Given the description of an element on the screen output the (x, y) to click on. 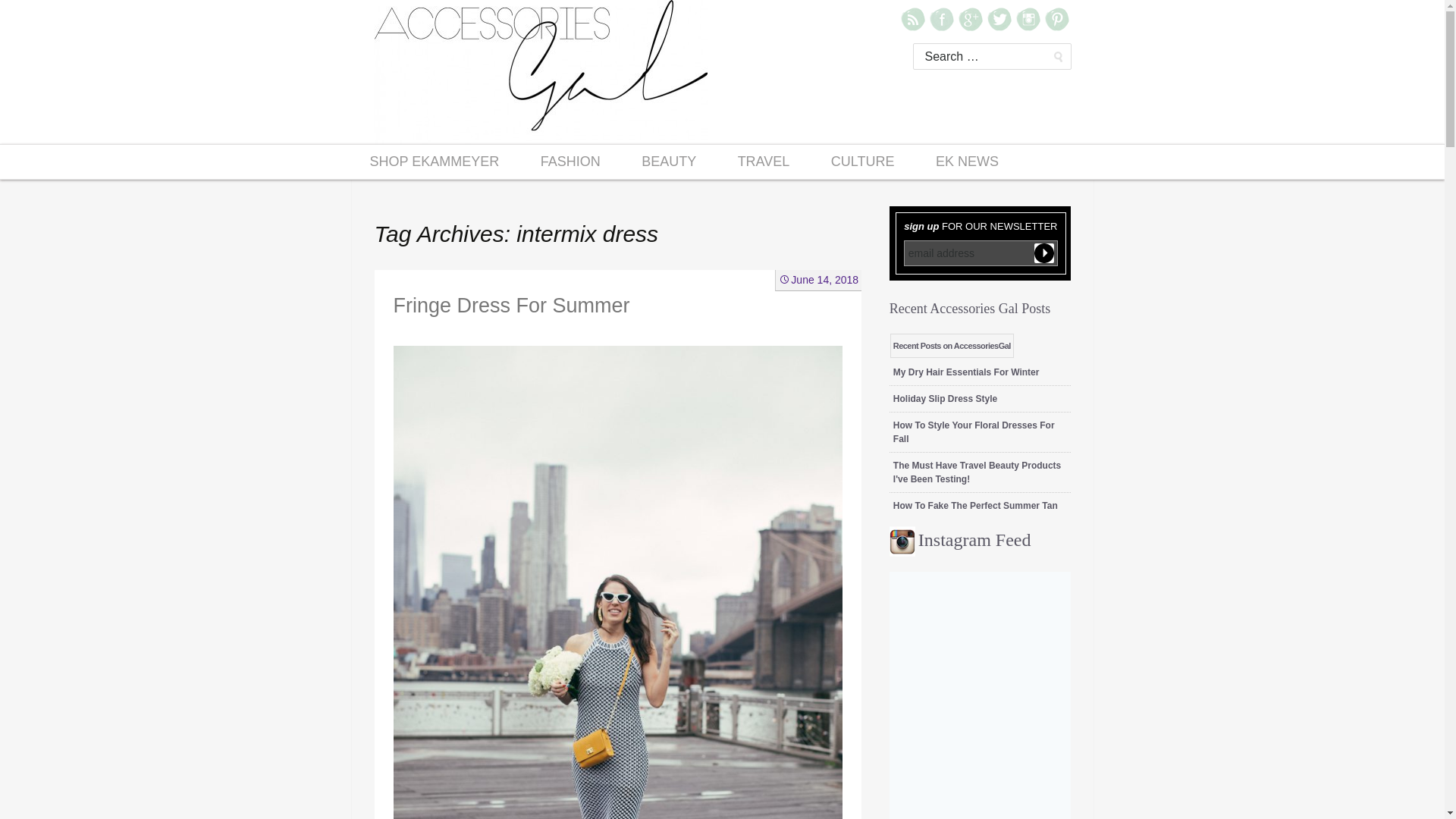
SHOP EKAMMEYER (434, 161)
BEAUTY (668, 161)
My Dry Hair Essentials For Winter (966, 371)
Fringe Dress For Summer (510, 305)
Search (37, 15)
Holiday Slip Dress Style (945, 398)
TRAVEL (764, 161)
How To Fake The Perfect Summer Tan (975, 505)
Permalink to Fringe Dress For Summer (818, 279)
June 14, 2018 (818, 279)
CULTURE (863, 161)
How To Style Your Floral Dresses For Fall (973, 432)
FASHION (570, 161)
EK NEWS (967, 161)
